Given the description of an element on the screen output the (x, y) to click on. 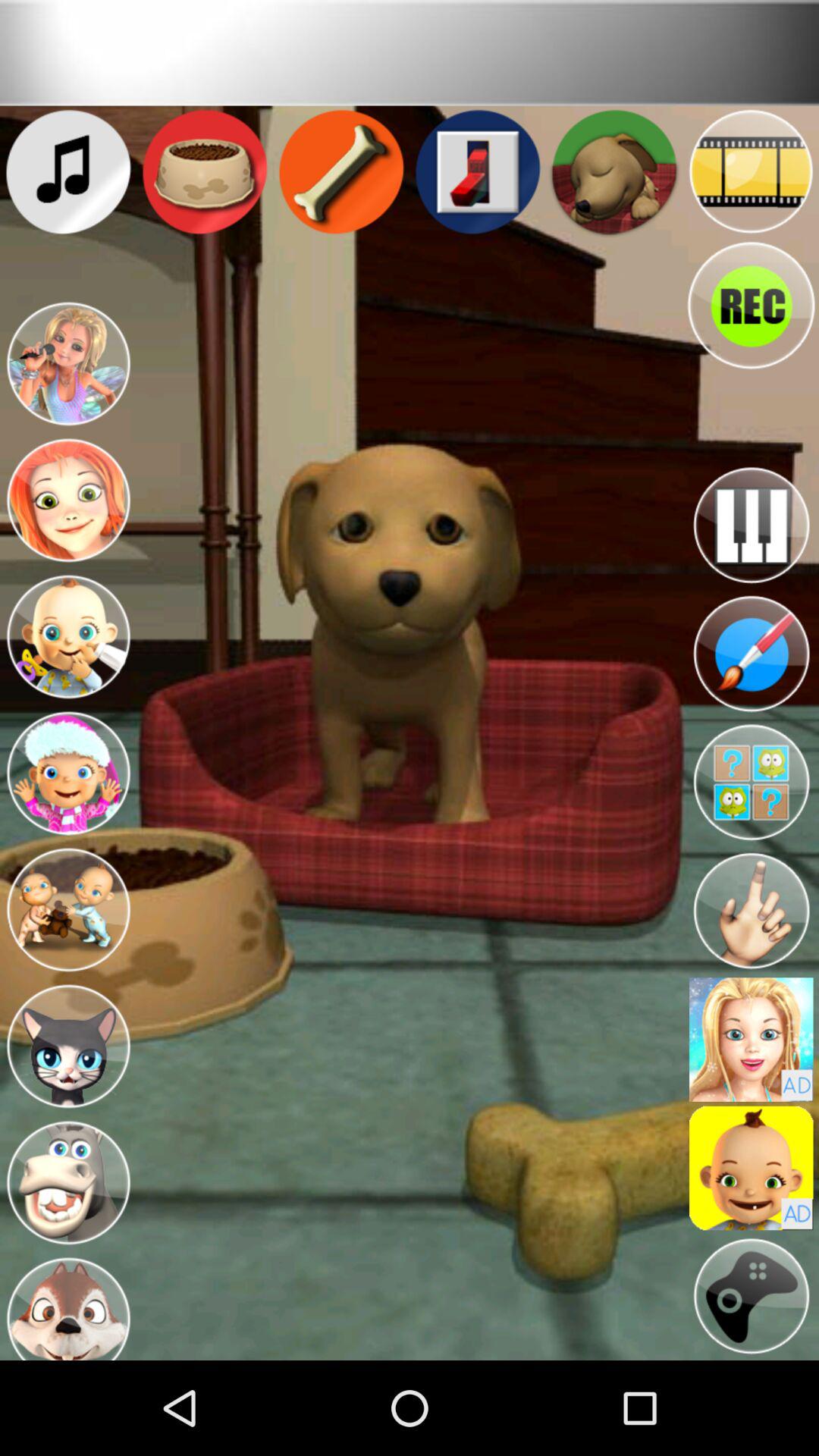
chanch phontoes (751, 1039)
